Given the description of an element on the screen output the (x, y) to click on. 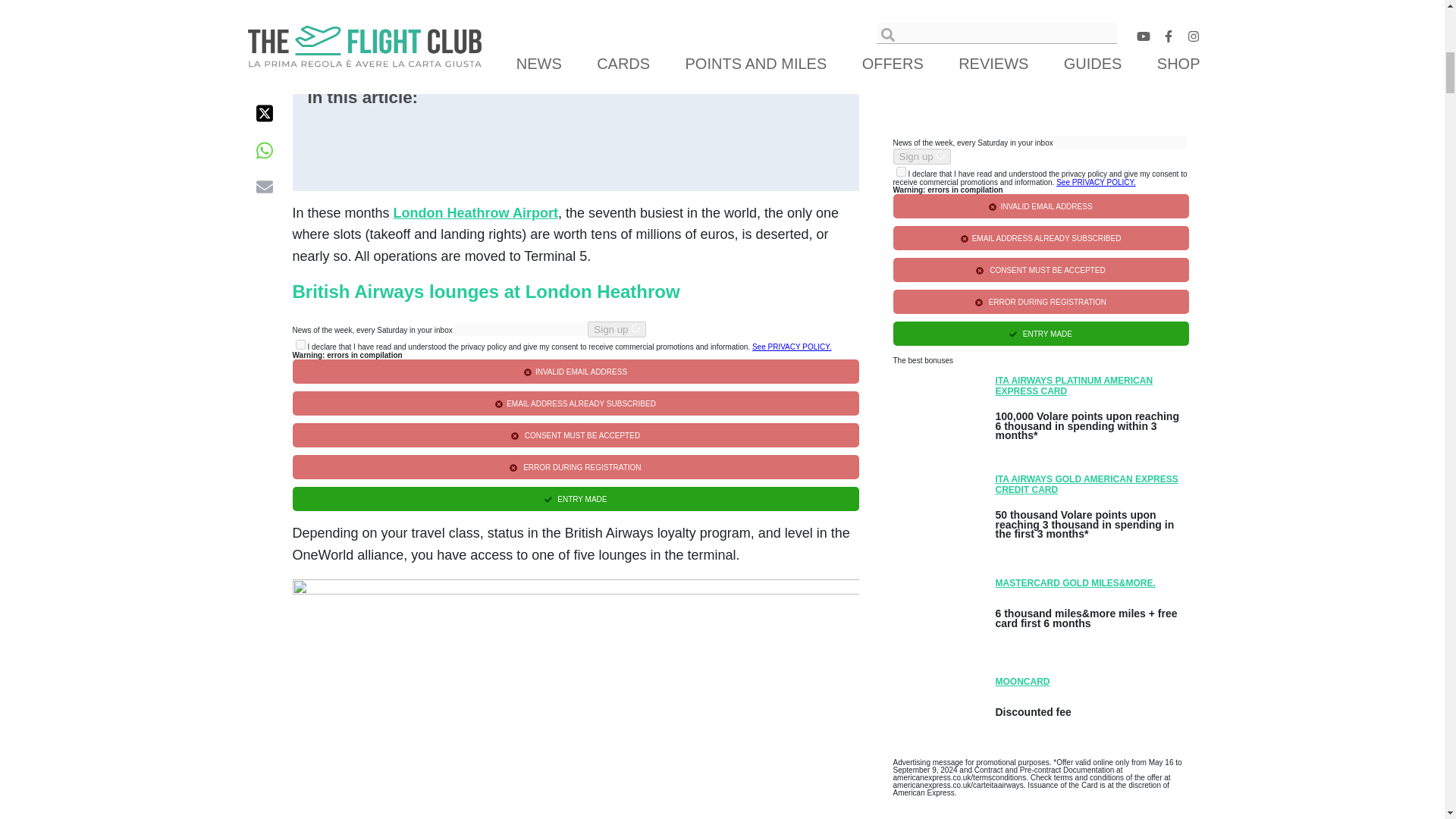
Sign up (617, 329)
London Heathrow Airport (475, 212)
1 (300, 344)
See PRIVACY POLICY. (791, 347)
1 (900, 171)
